Given the description of an element on the screen output the (x, y) to click on. 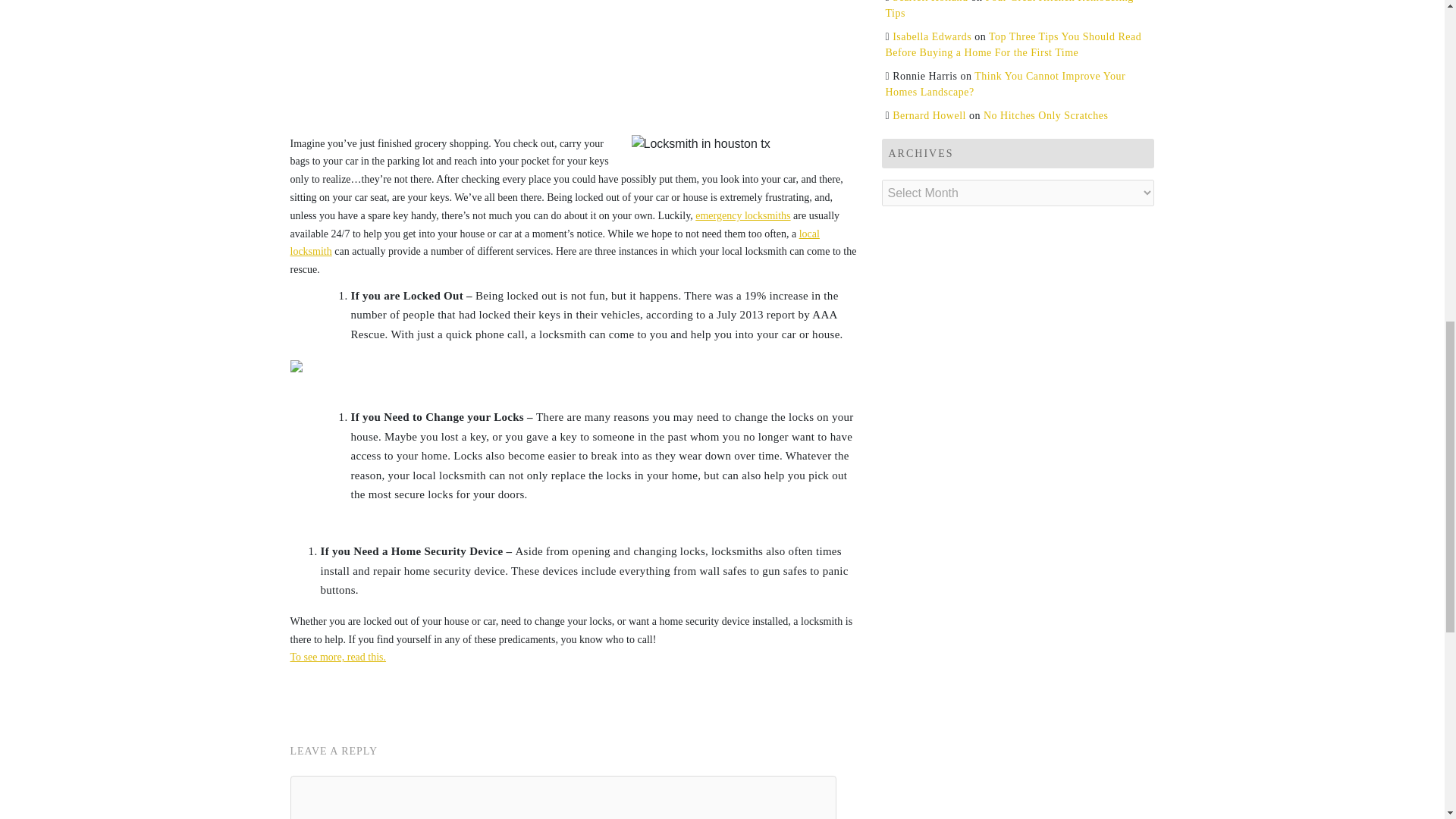
Locksmith Bowling Green - The benefits of using a locksmith (573, 63)
For more info on Locksmith houston tx (742, 215)
a link I like (337, 656)
To see more, read this. (337, 656)
emergency locksmiths (742, 215)
local locksmith (553, 242)
The things I like (553, 242)
